Given the description of an element on the screen output the (x, y) to click on. 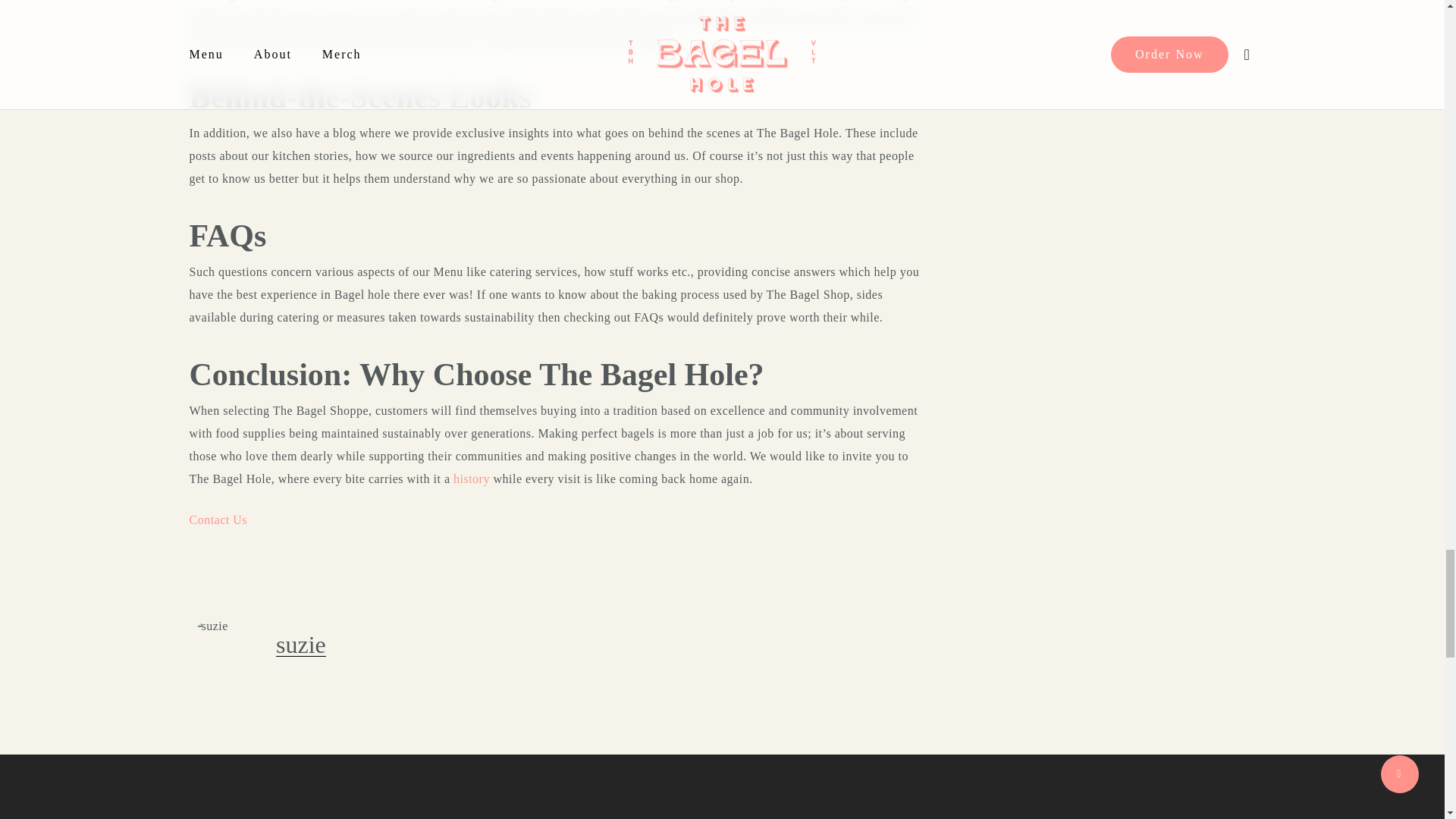
suzie (301, 644)
Contact Us (218, 519)
history (470, 478)
